Given the description of an element on the screen output the (x, y) to click on. 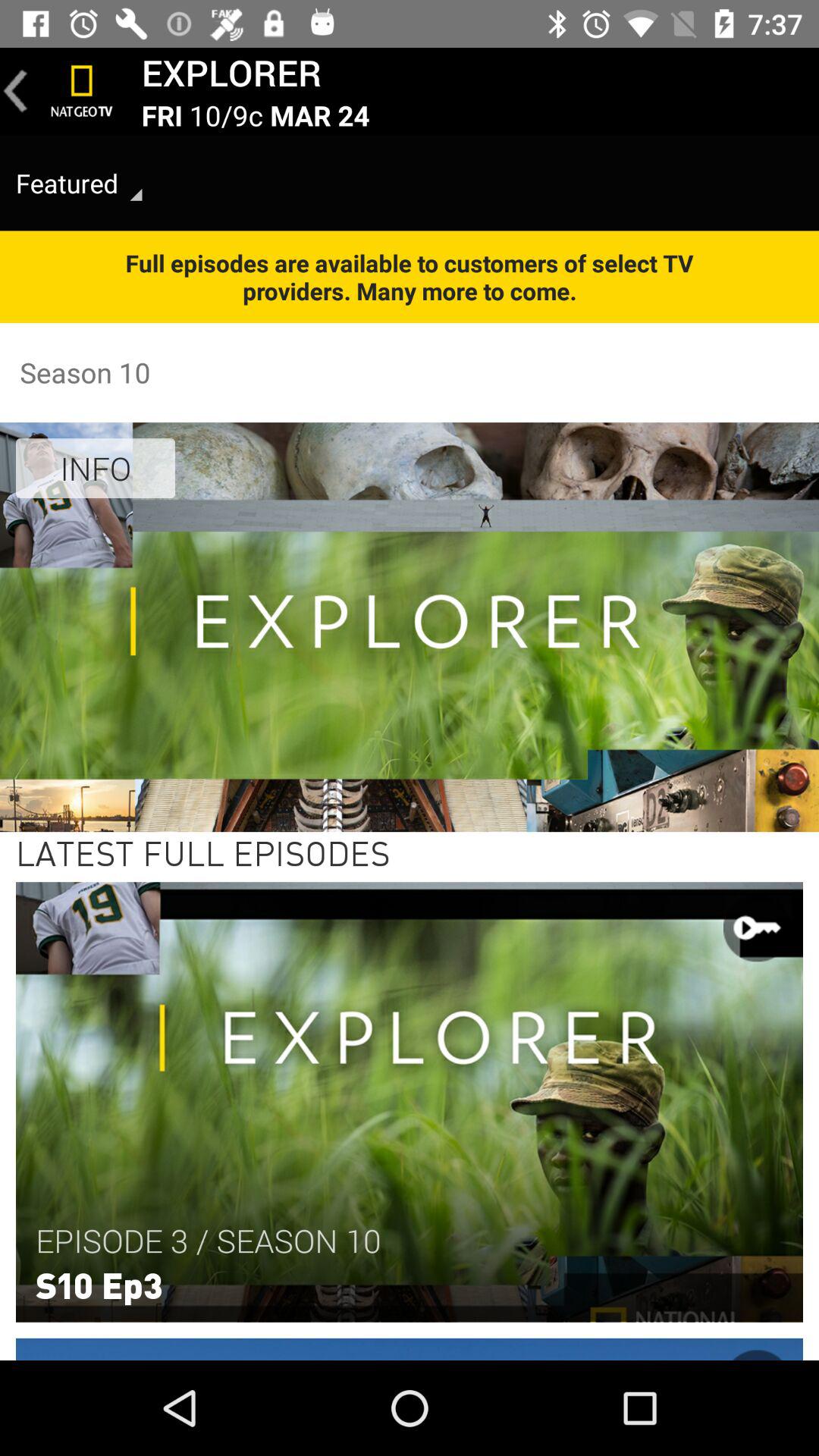
page back (15, 90)
